Given the description of an element on the screen output the (x, y) to click on. 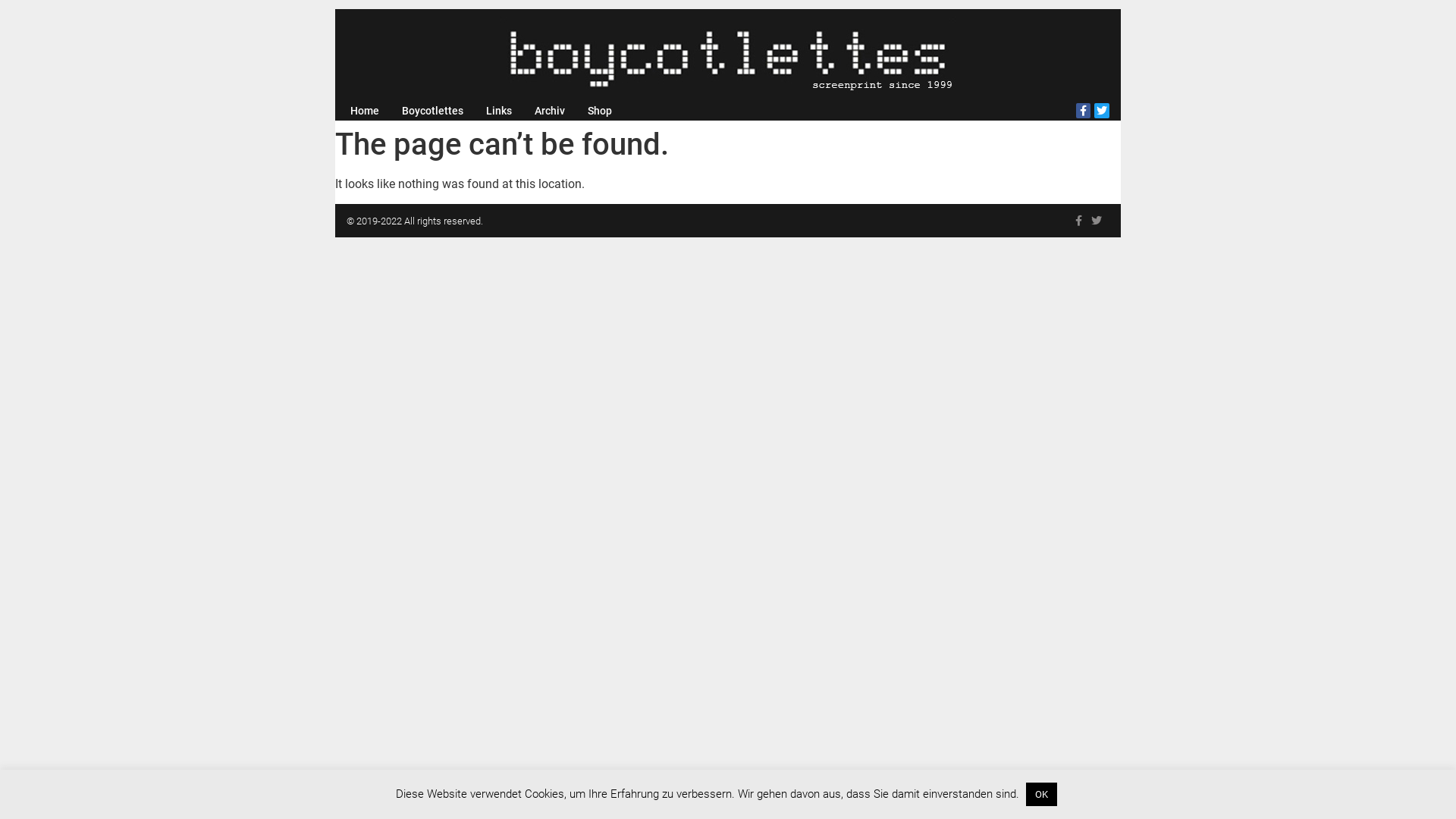
Archiv Element type: text (549, 110)
Home Element type: text (364, 110)
Shop Element type: text (599, 110)
OK Element type: text (1040, 794)
Boycotlettes Element type: text (432, 110)
Links Element type: text (498, 110)
